Given the description of an element on the screen output the (x, y) to click on. 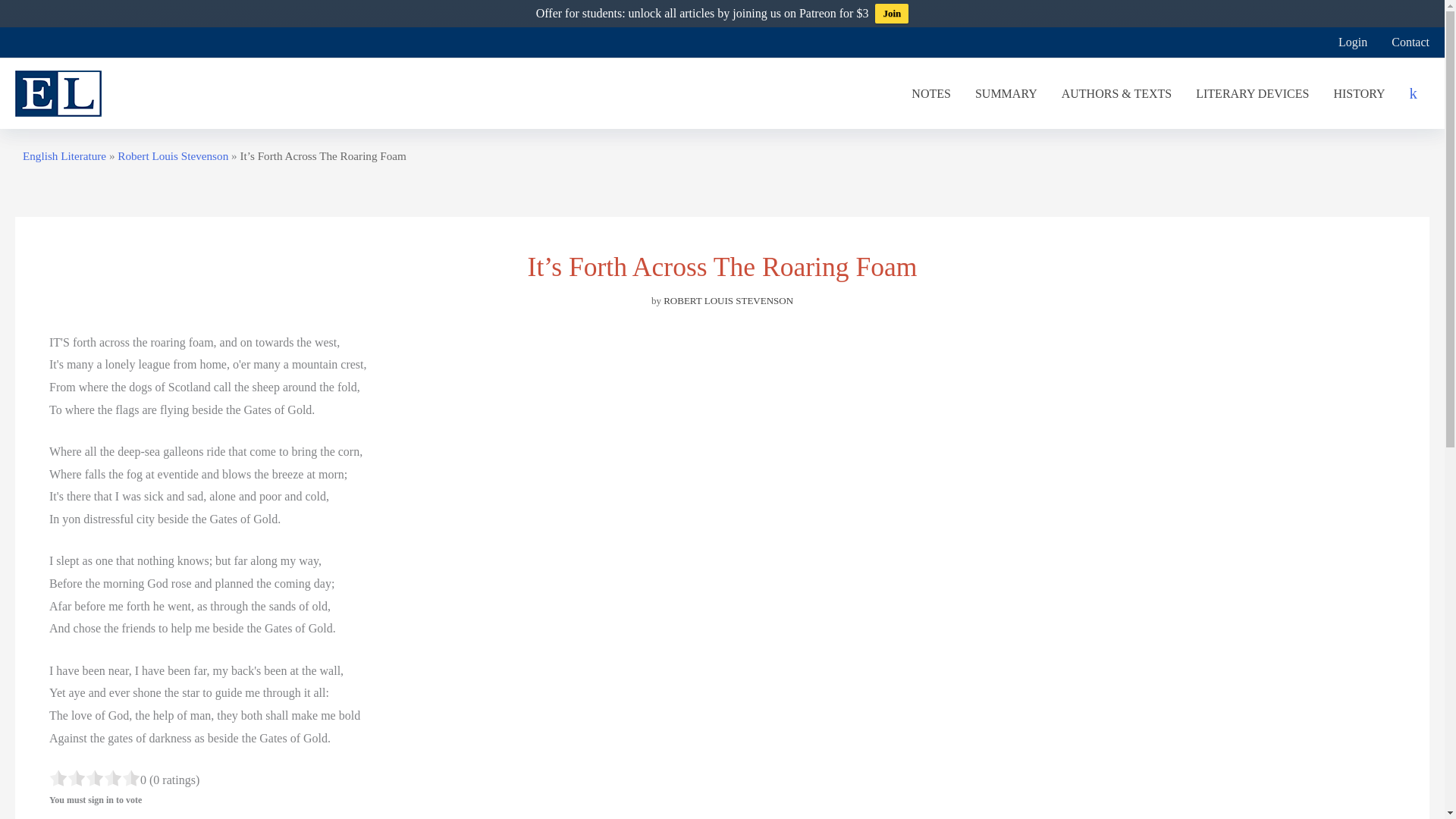
SUMMARY (1005, 93)
LITERARY DEVICES (1251, 93)
History of English Literature (1358, 93)
Contact (1403, 42)
Login (1352, 42)
HISTORY (1358, 93)
ROBERT LOUIS STEVENSON (728, 300)
Robert Louis Stevenson (172, 155)
Join (891, 13)
NOTES (930, 93)
English Literature (64, 155)
English Literature notes (930, 93)
